Given the description of an element on the screen output the (x, y) to click on. 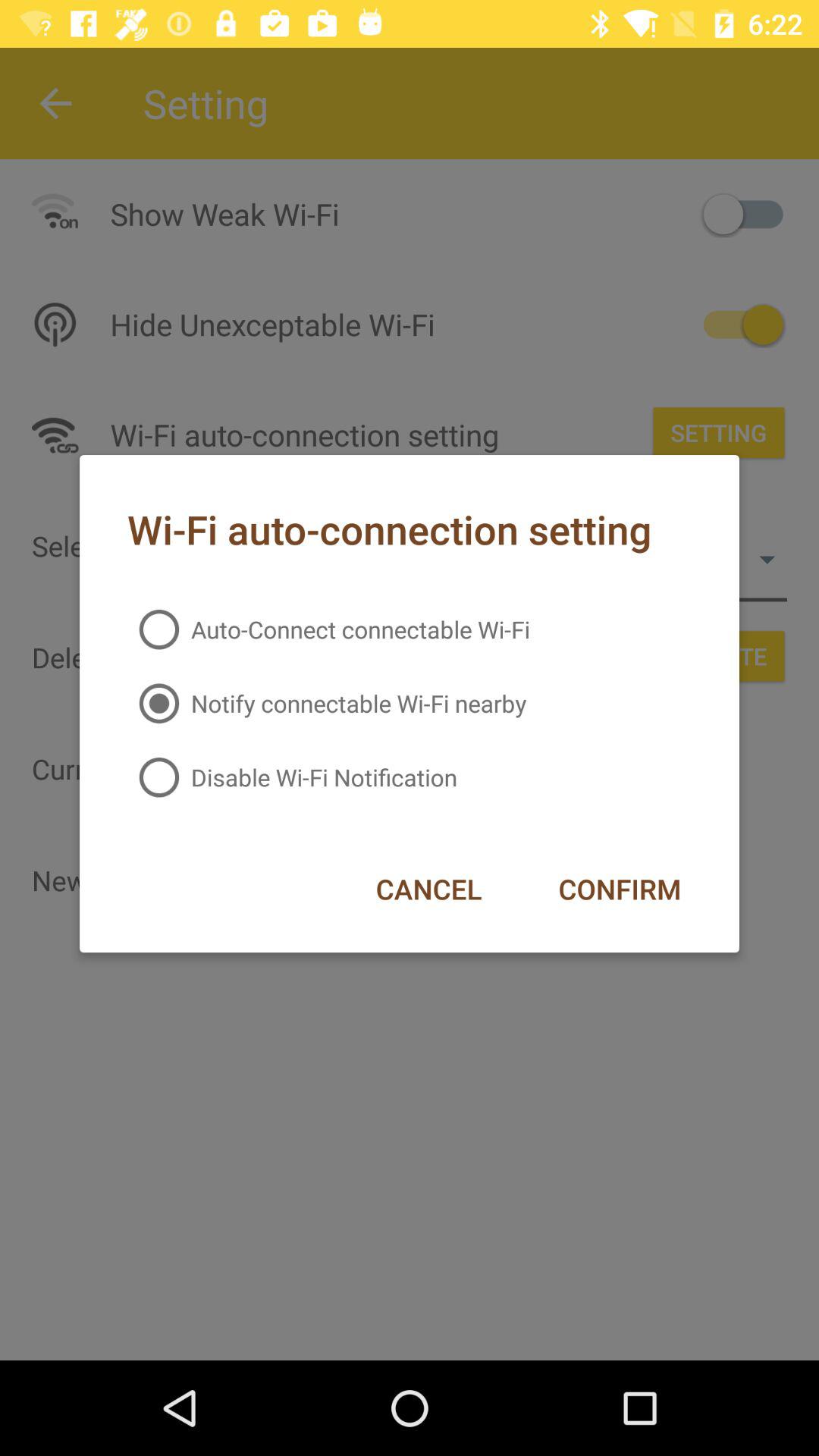
open the auto connect connectable item (328, 629)
